Given the description of an element on the screen output the (x, y) to click on. 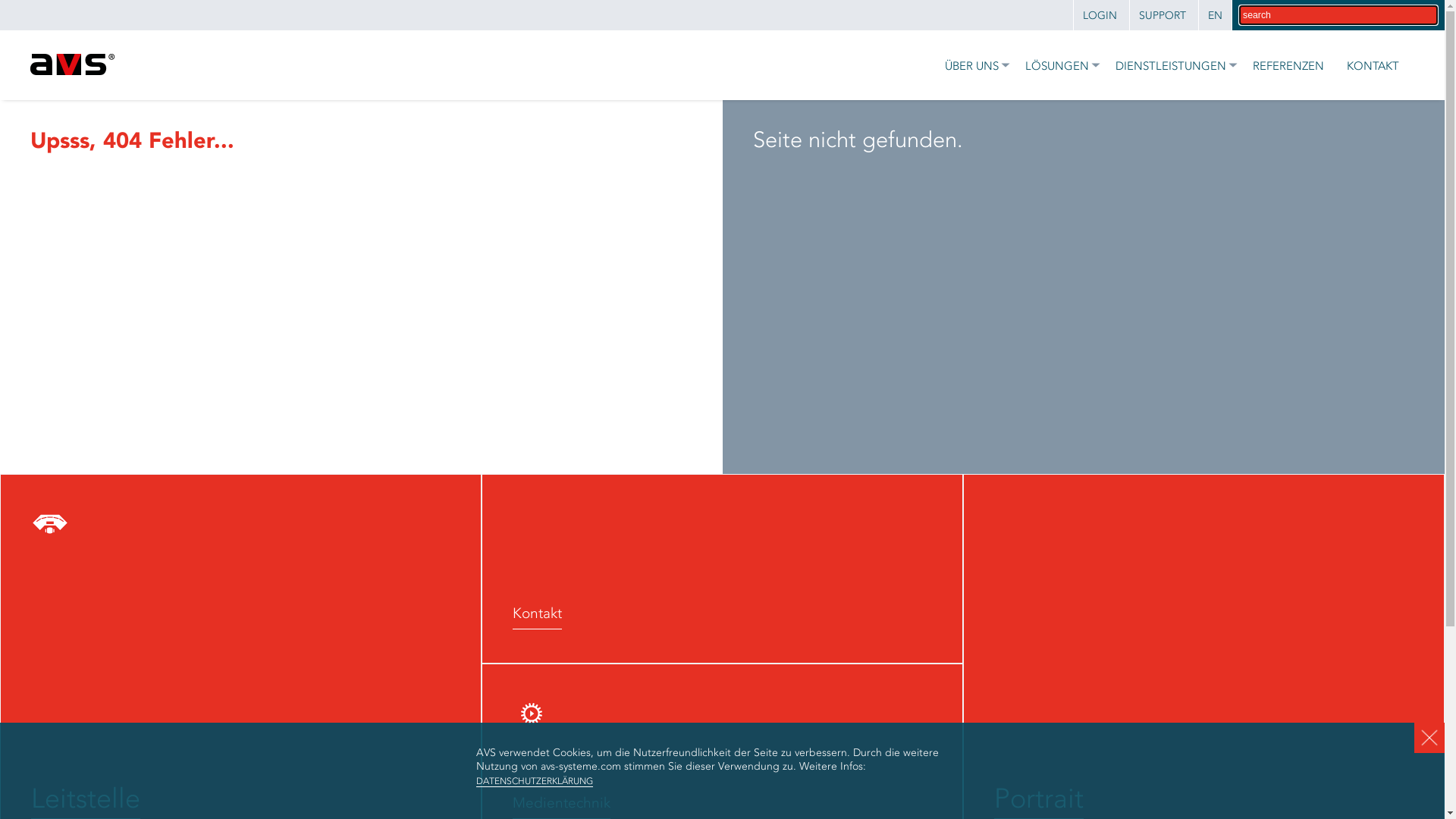
KONTAKT Element type: text (1368, 64)
Kontakt Element type: text (721, 568)
DIENSTLEISTUNGEN Element type: text (1168, 64)
EN Element type: text (1214, 15)
SUPPORT Element type: text (1162, 15)
REFERENZEN Element type: text (1284, 64)
LOGIN Element type: text (1099, 15)
